Given the description of an element on the screen output the (x, y) to click on. 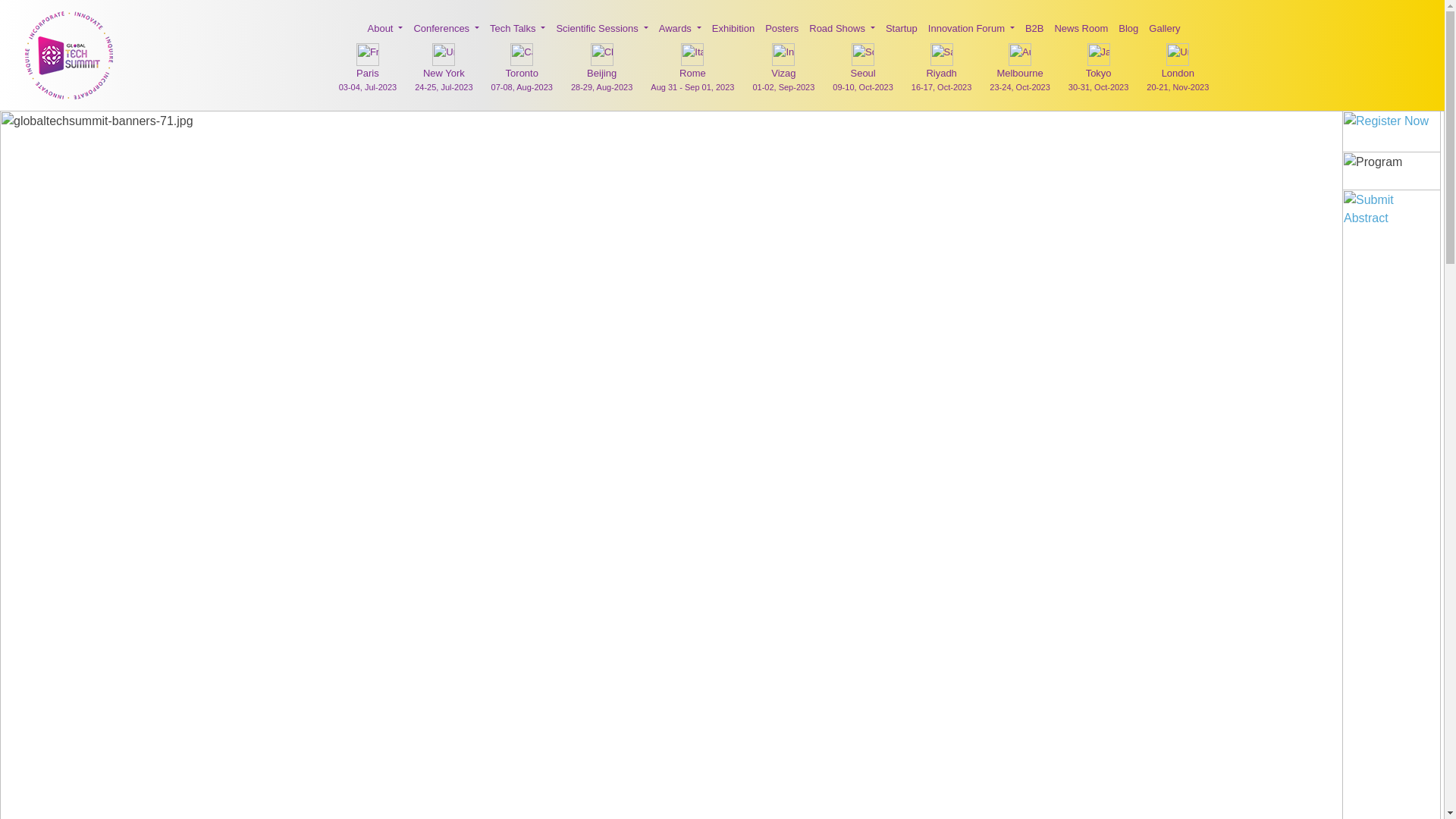
About (385, 28)
Global Tech Summit (69, 54)
Global Tech Summit (69, 54)
